Given the description of an element on the screen output the (x, y) to click on. 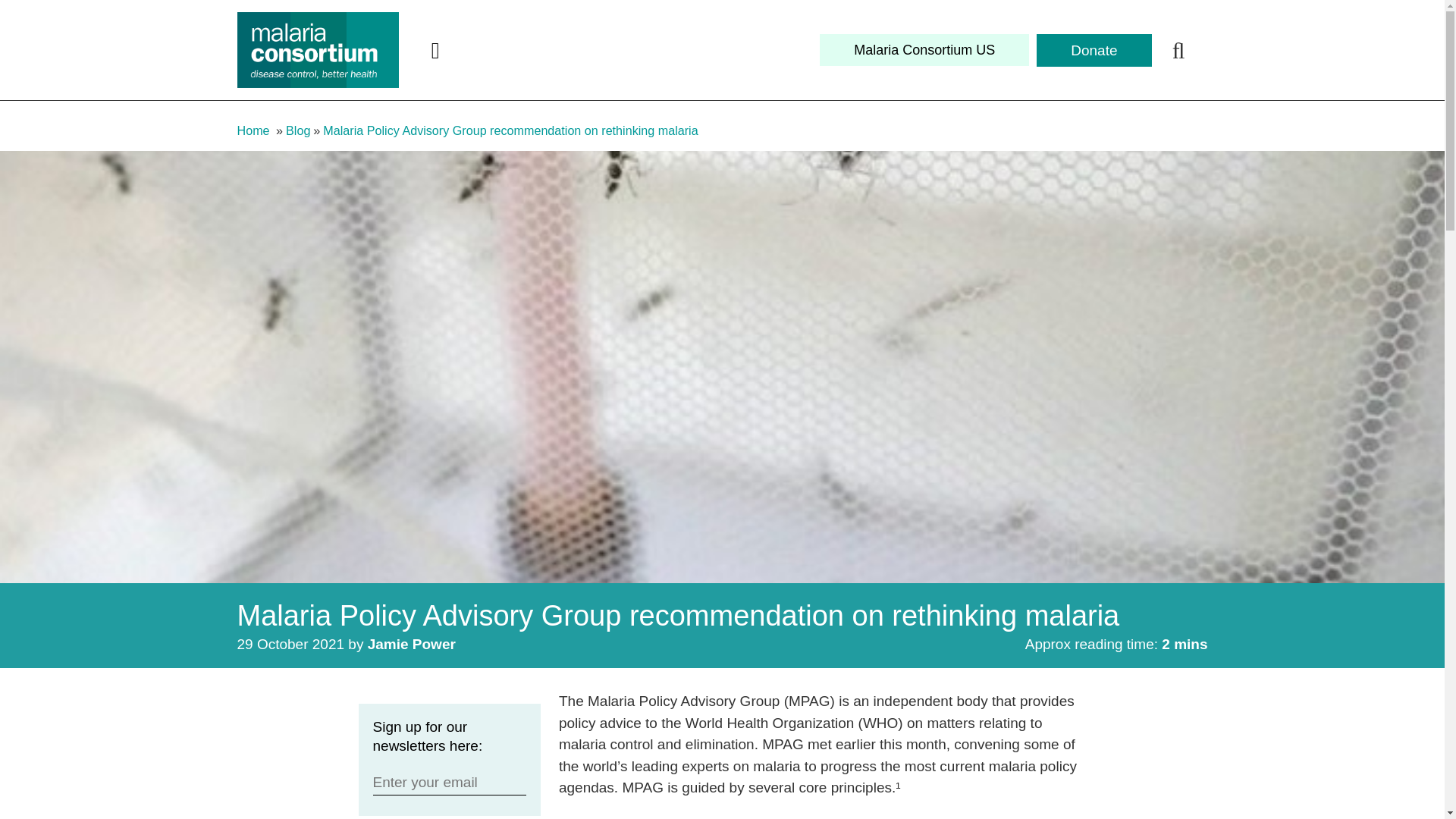
Malaria Consortium US (924, 50)
Donate (1093, 49)
Posts by Jamie Power (411, 643)
